Given the description of an element on the screen output the (x, y) to click on. 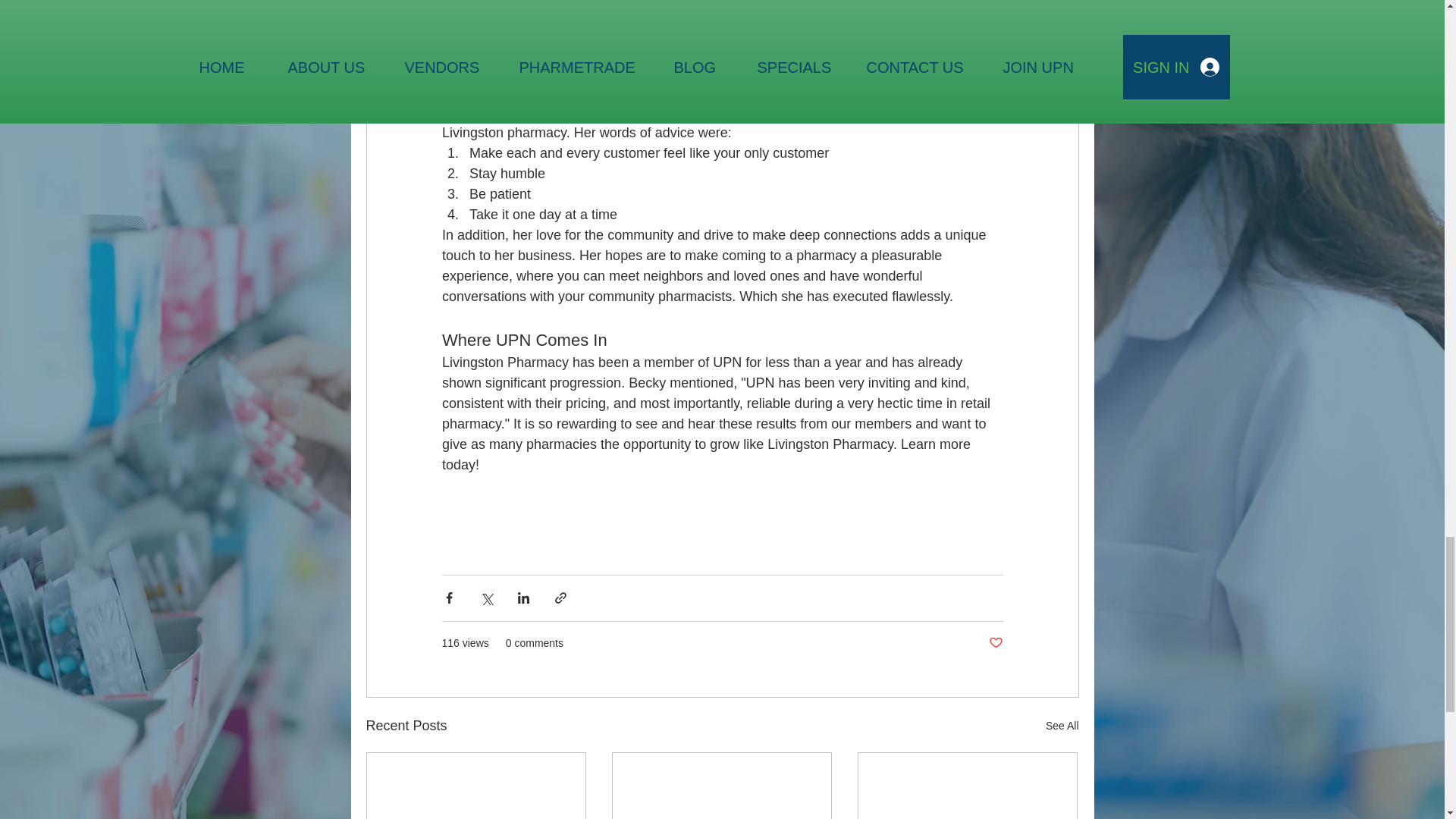
Post not marked as liked (995, 643)
See All (1061, 725)
